Given the description of an element on the screen output the (x, y) to click on. 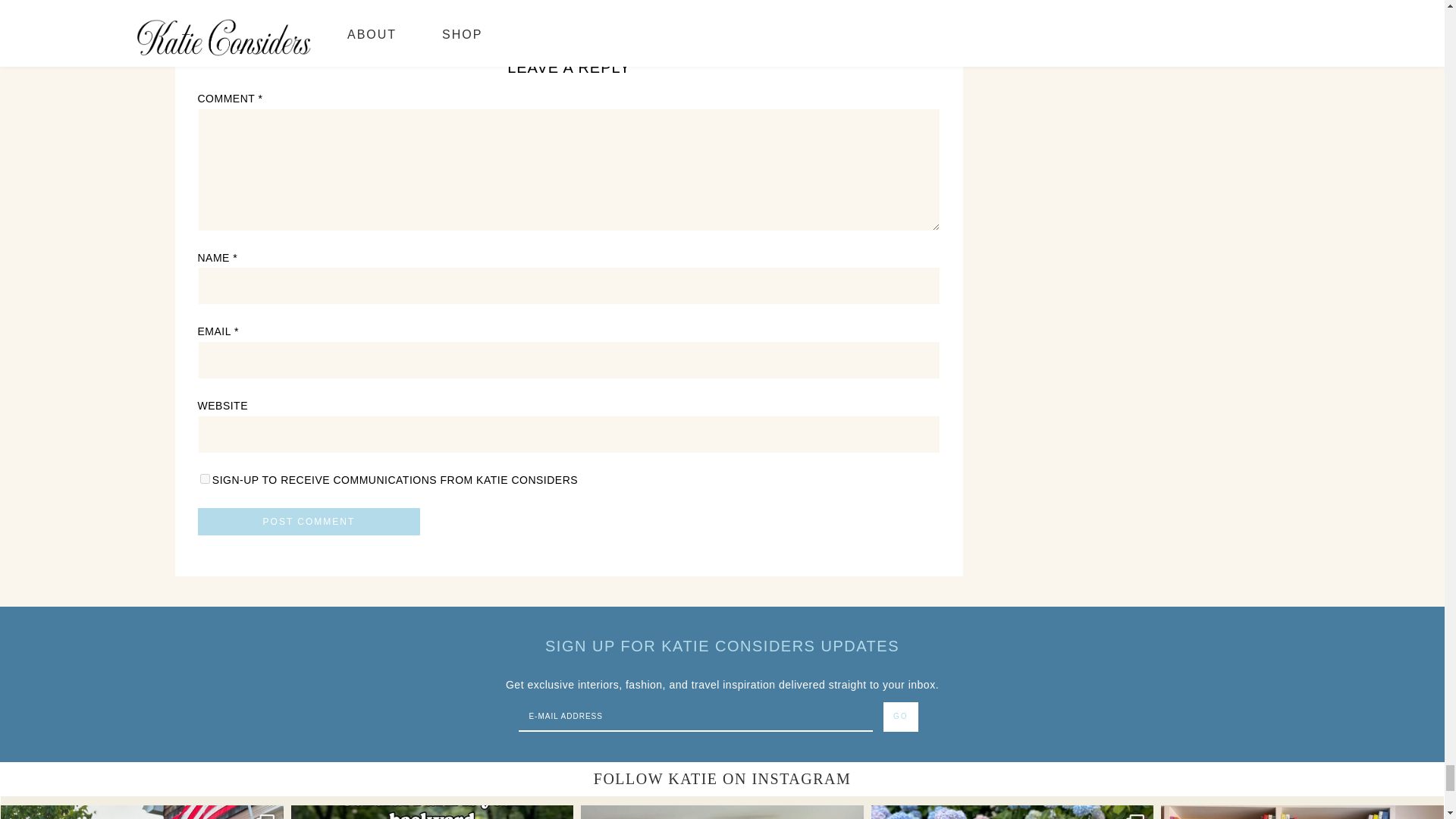
Go (900, 716)
1 (203, 479)
Post Comment (308, 521)
